Given the description of an element on the screen output the (x, y) to click on. 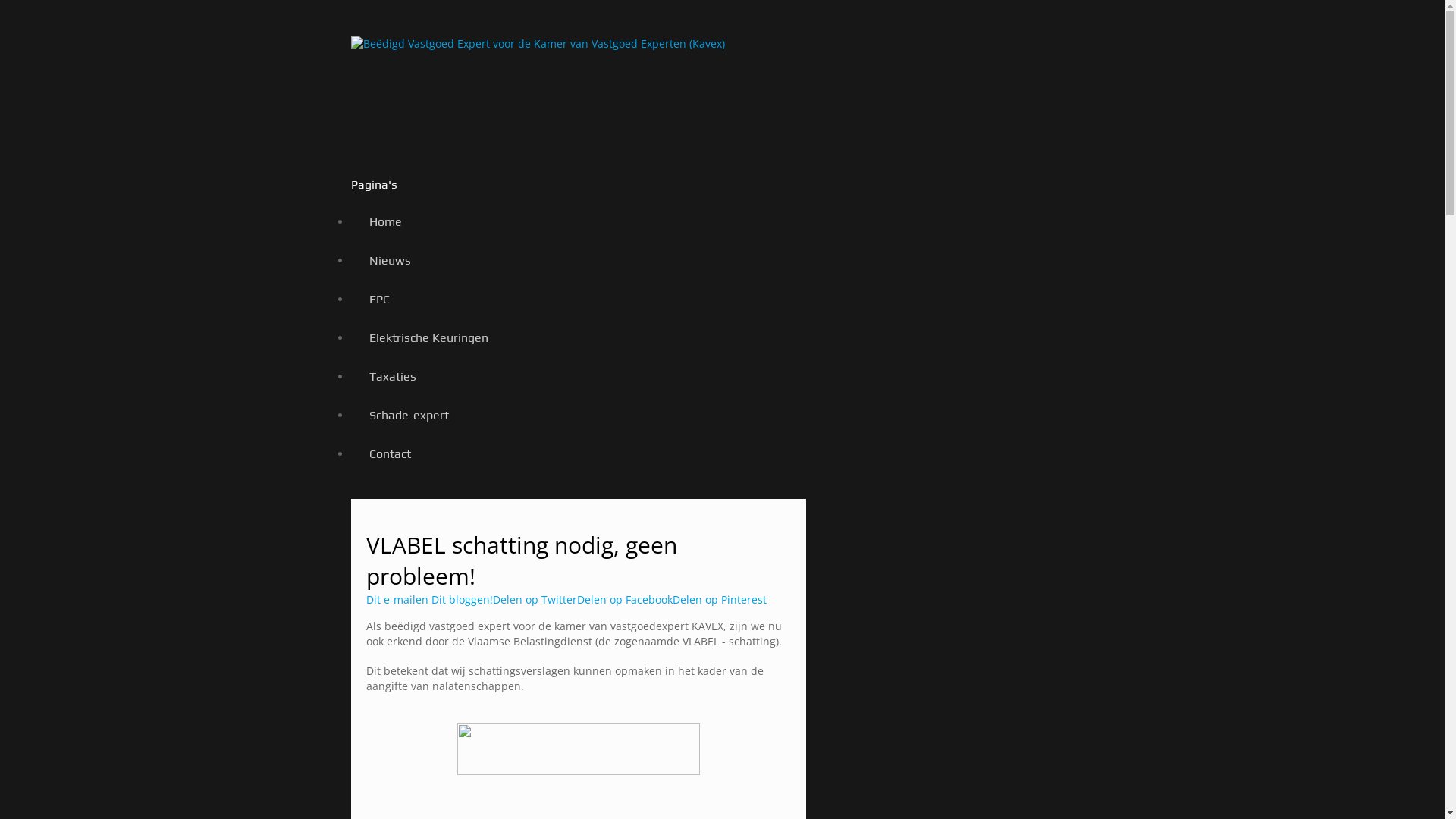
Dit bloggen! Element type: text (461, 599)
Schade-expert Element type: text (408, 414)
VLABEL schatting nodig, geen probleem! Element type: text (520, 560)
Contact Element type: text (389, 453)
Elektrische Keuringen Element type: text (427, 337)
Dit e-mailen Element type: text (397, 599)
Nieuws Element type: text (389, 260)
Delen op Pinterest Element type: text (718, 599)
Taxaties Element type: text (391, 376)
Home Element type: text (384, 221)
EPC Element type: text (378, 298)
Delen op Twitter Element type: text (534, 599)
Delen op Facebook Element type: text (623, 599)
